Given the description of an element on the screen output the (x, y) to click on. 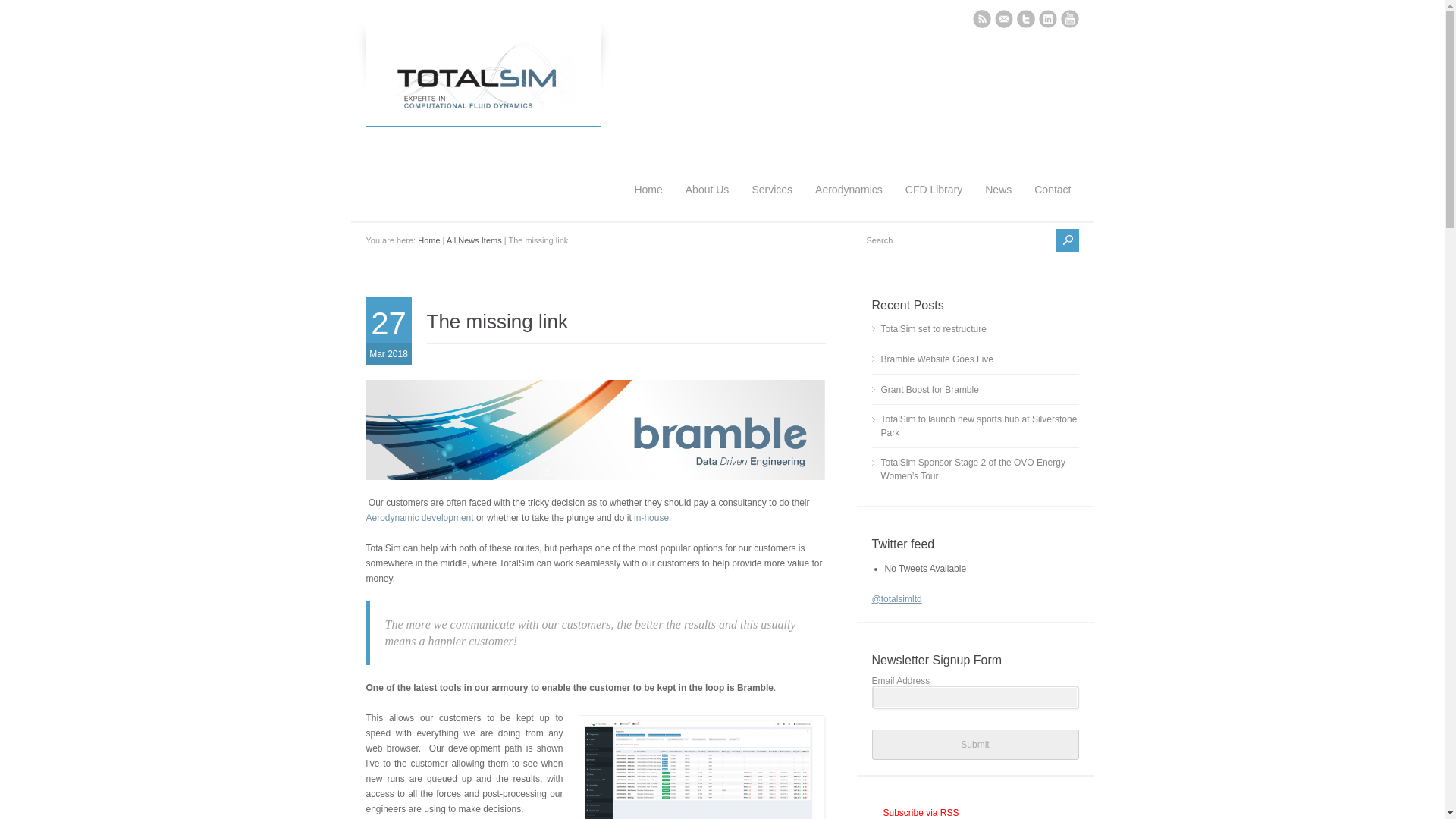
Search (957, 240)
Aerodynamics (848, 172)
About Us (707, 172)
The missing link (496, 321)
Services (771, 172)
Search (957, 240)
